Given the description of an element on the screen output the (x, y) to click on. 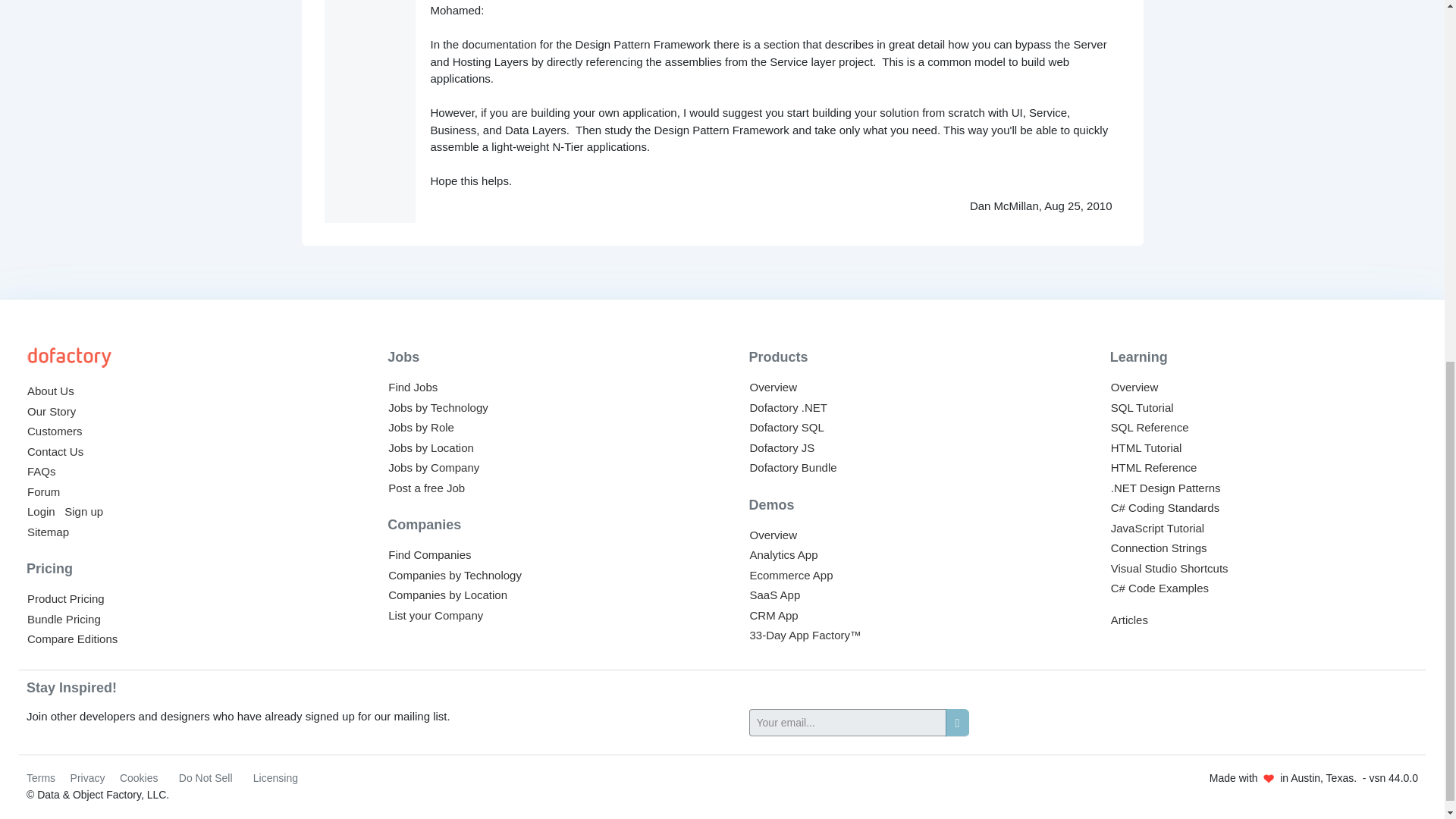
Login (41, 511)
Product Pricing (65, 598)
Forum (43, 491)
About Us (50, 390)
Our Story (51, 410)
Contact Us (54, 451)
Customers (54, 431)
FAQs (41, 471)
Sign up (83, 511)
Sitemap (47, 531)
